Given the description of an element on the screen output the (x, y) to click on. 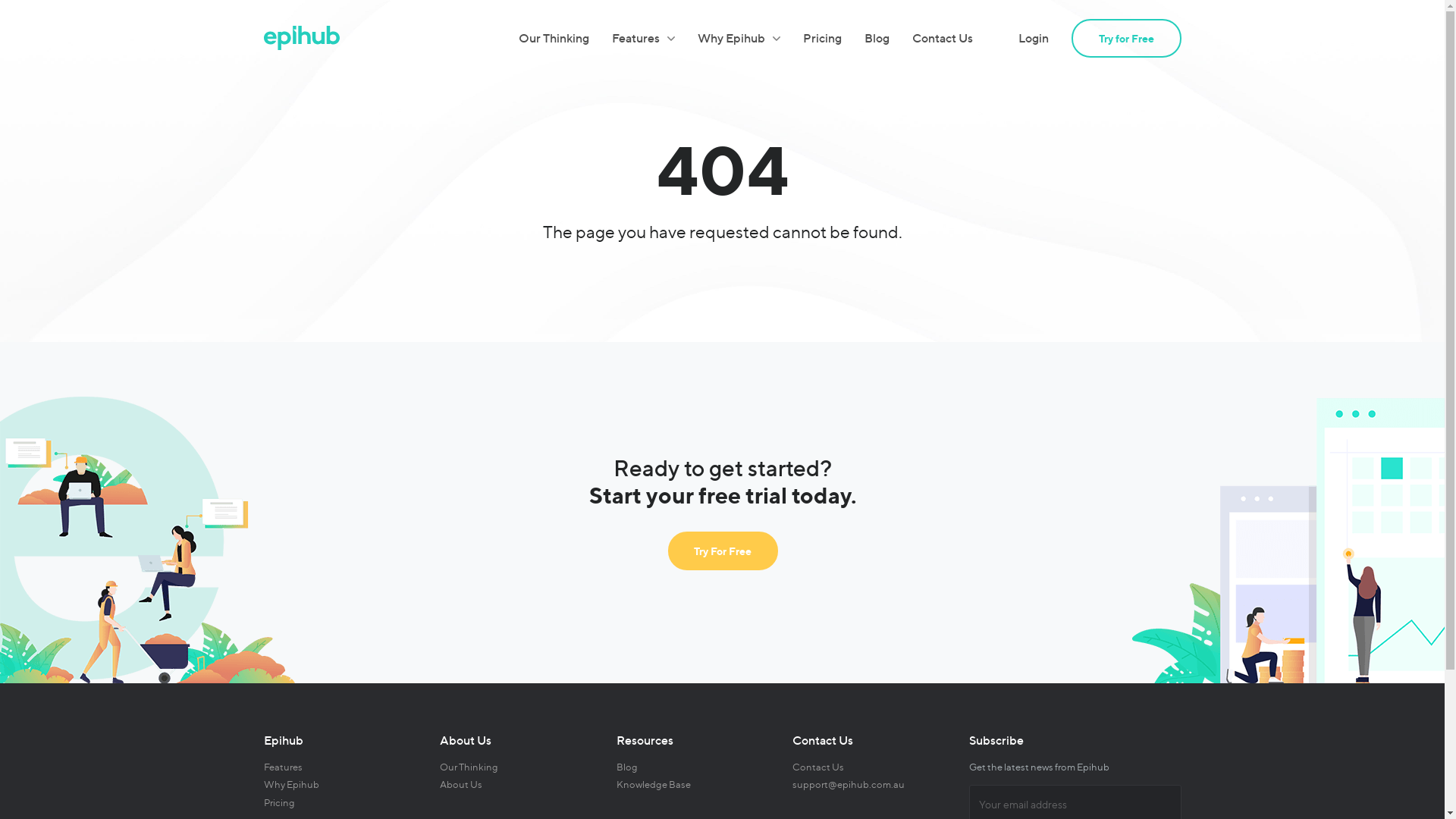
Pricing Element type: text (278, 802)
Why Epihub Element type: text (738, 37)
About Us Element type: text (460, 784)
Login Element type: text (1032, 37)
Contact Us Element type: text (941, 37)
support@epihub.com.au Element type: text (848, 784)
Pricing Element type: text (821, 37)
Knowledge Base Element type: text (652, 784)
Why Epihub Element type: text (291, 784)
Our Thinking Element type: text (553, 37)
Try For Free Element type: text (722, 550)
Blog Element type: text (626, 766)
Contact Us Element type: text (818, 766)
Blog Element type: text (876, 37)
Features Element type: text (642, 37)
Features Element type: text (282, 766)
Our Thinking Element type: text (468, 766)
Try for Free Element type: text (1125, 37)
